Given the description of an element on the screen output the (x, y) to click on. 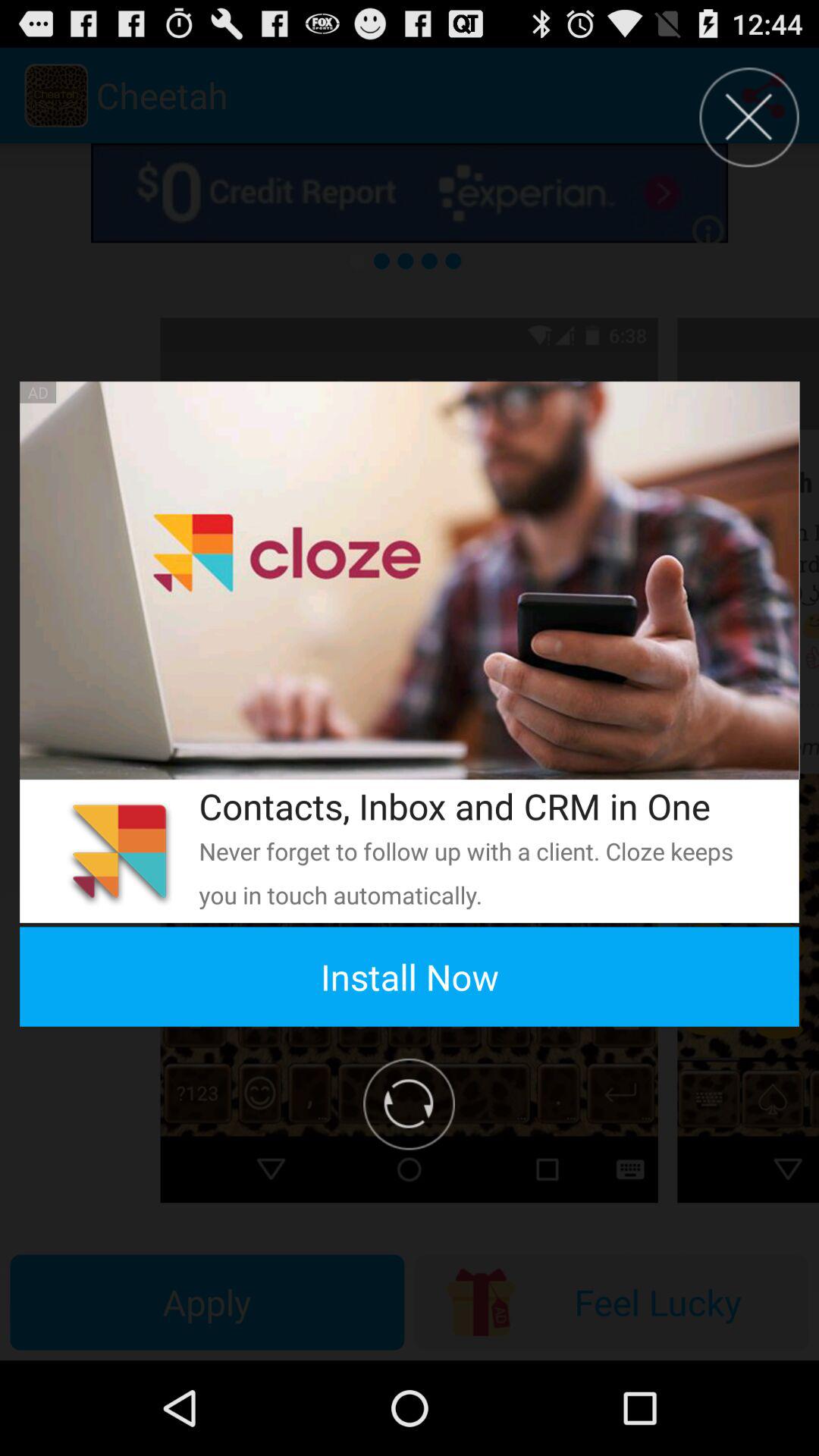
select item below the contacts inbox and app (479, 872)
